Given the description of an element on the screen output the (x, y) to click on. 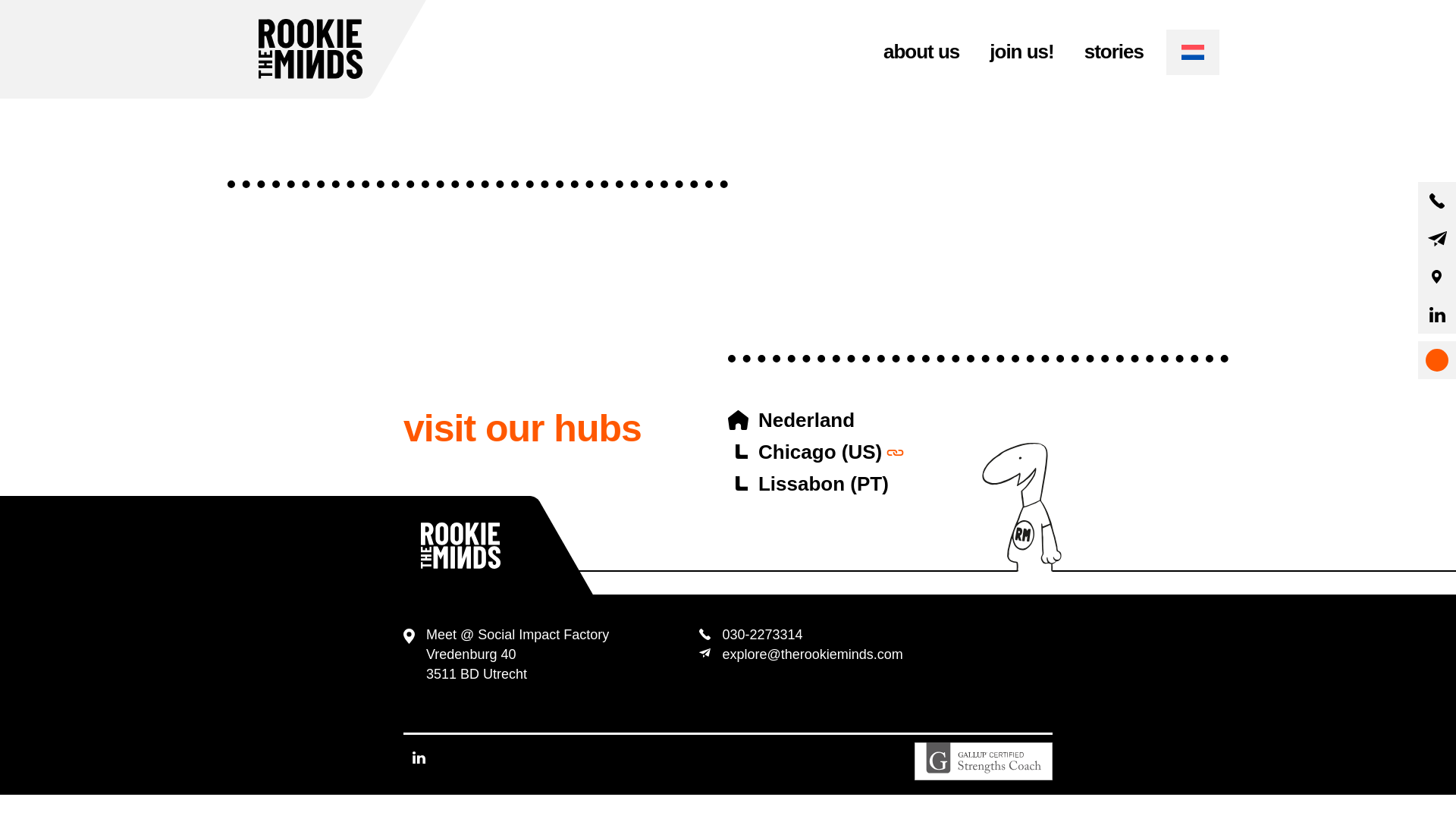
about us (920, 51)
030-2273314 (762, 634)
stories (1113, 51)
join us! (1021, 51)
